Given the description of an element on the screen output the (x, y) to click on. 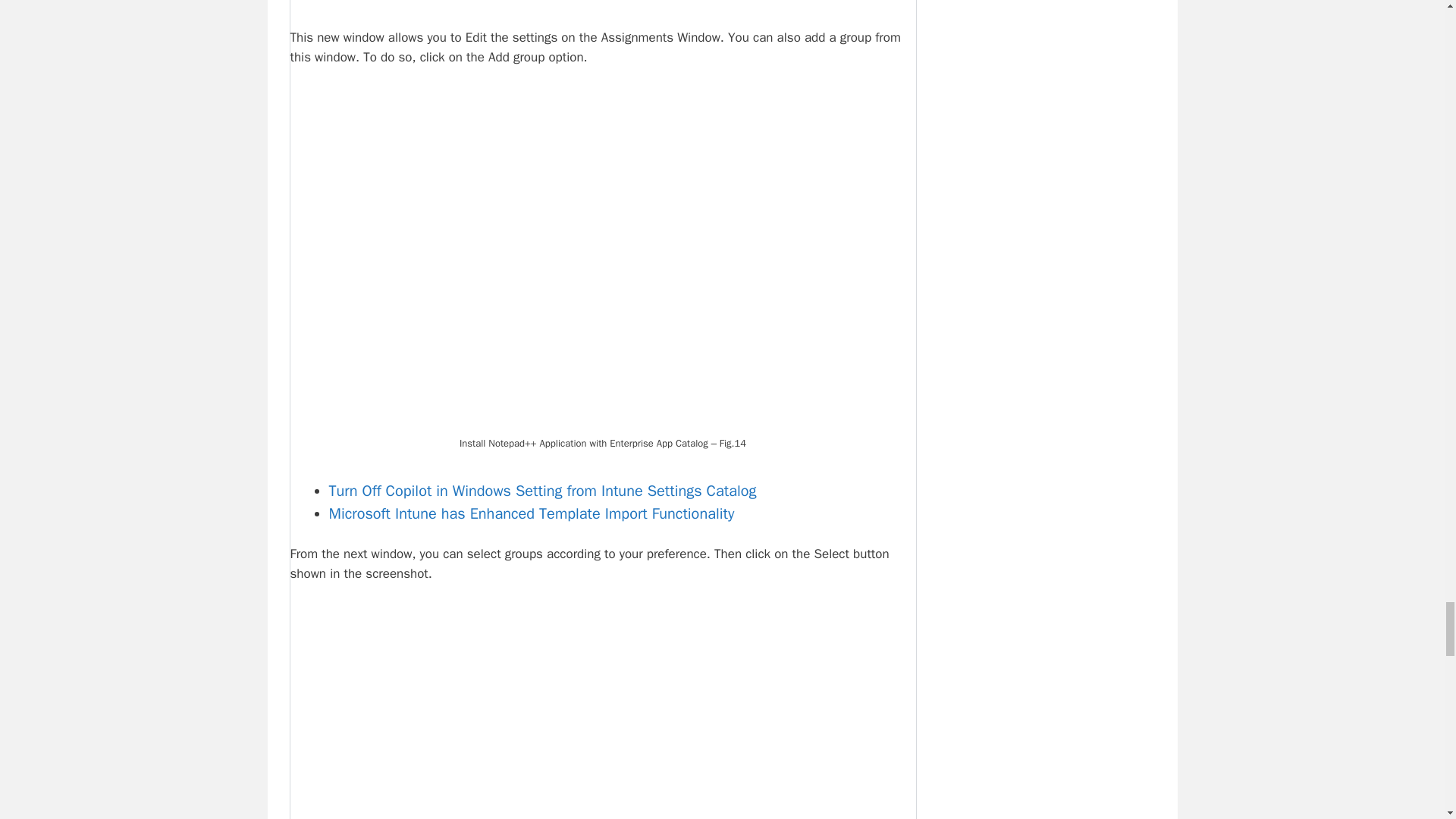
Microsoft Intune has Enhanced Template Import Functionality (532, 513)
